Given the description of an element on the screen output the (x, y) to click on. 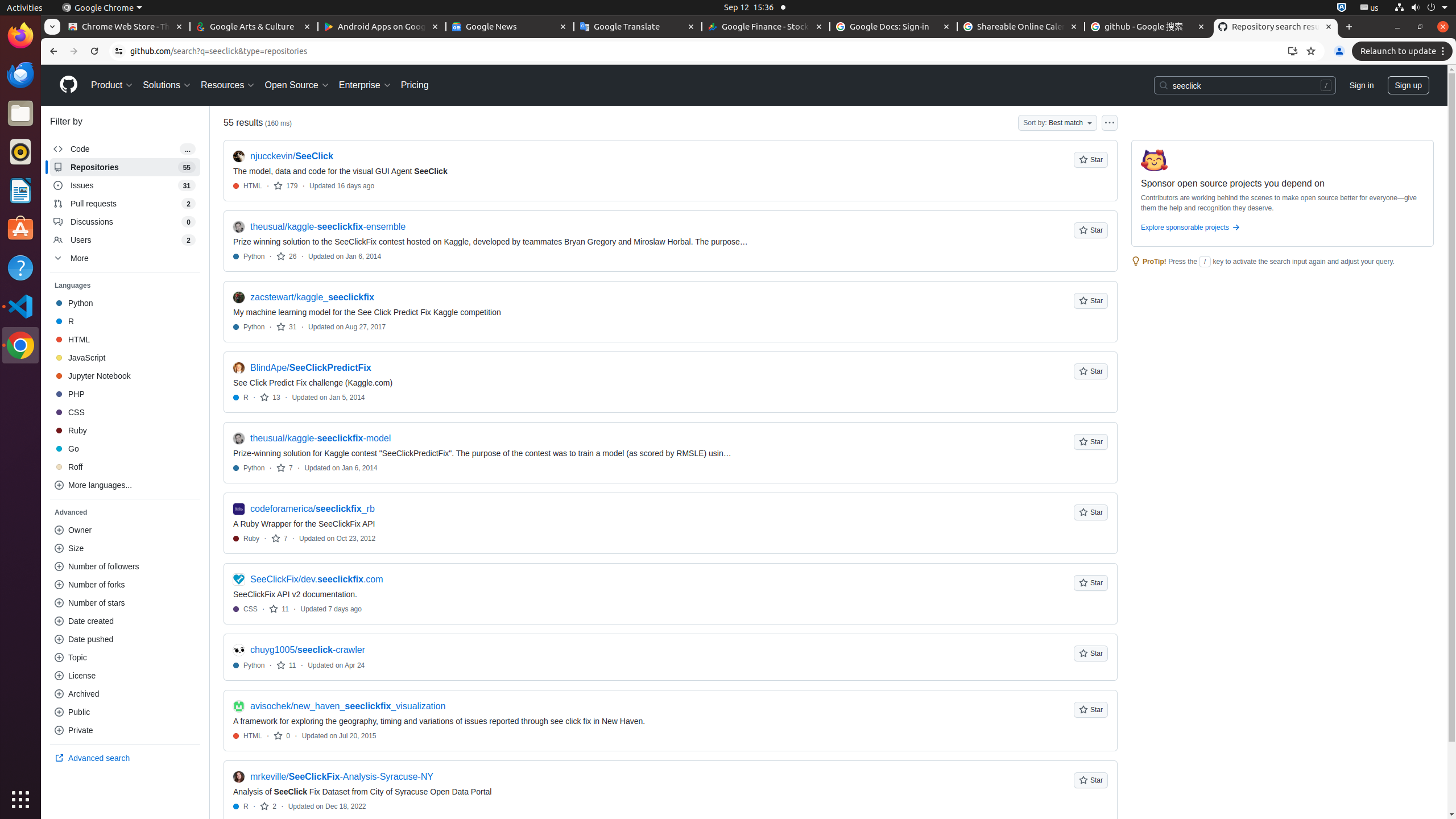
View site information Element type: push-button (118, 51)
Google News - Memory usage - 51.2 MB Element type: page-tab (509, 26)
Show Applications Element type: toggle-button (20, 799)
BlindApe/SeeClickPredictFix Element type: link (310, 367)
Pull requests , 2 results  (2) Element type: link (125, 203)
